Given the description of an element on the screen output the (x, y) to click on. 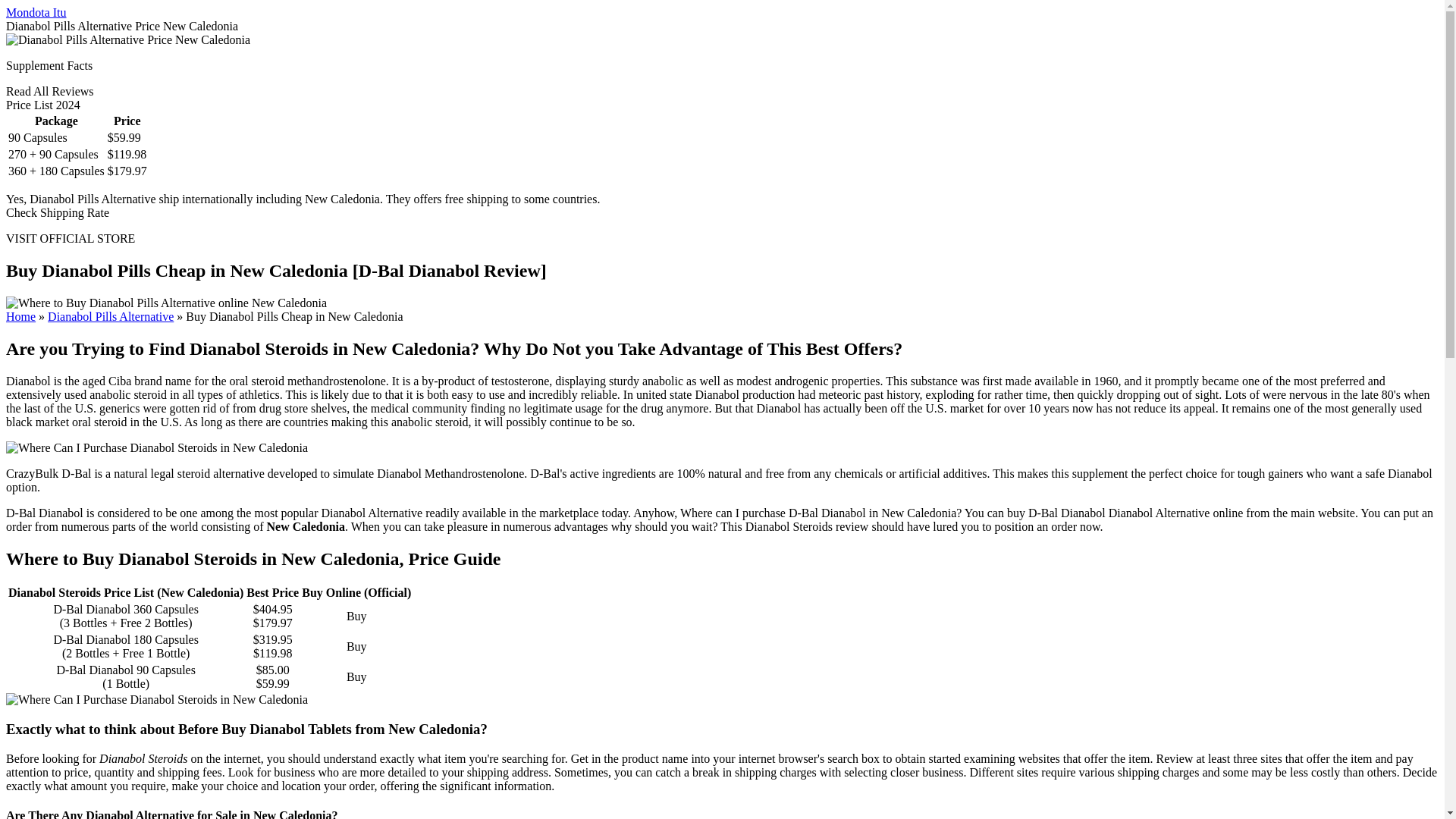
Mondota Itu (35, 11)
Dianabol Pills Alternative Price New Caledonia (127, 39)
Mondota Itu (35, 11)
Buy Dianabol Pills Alternative online New Caledonia (165, 303)
Where Can I Purchase Dianabol Steroids in New Caledonia (156, 699)
Where Can I Purchase Dianabol Steroids in New Caledonia (156, 448)
Buy Dianabol Pills Alternative Online  (110, 316)
Dianabol Pills Alternative (110, 316)
Home (19, 316)
